Given the description of an element on the screen output the (x, y) to click on. 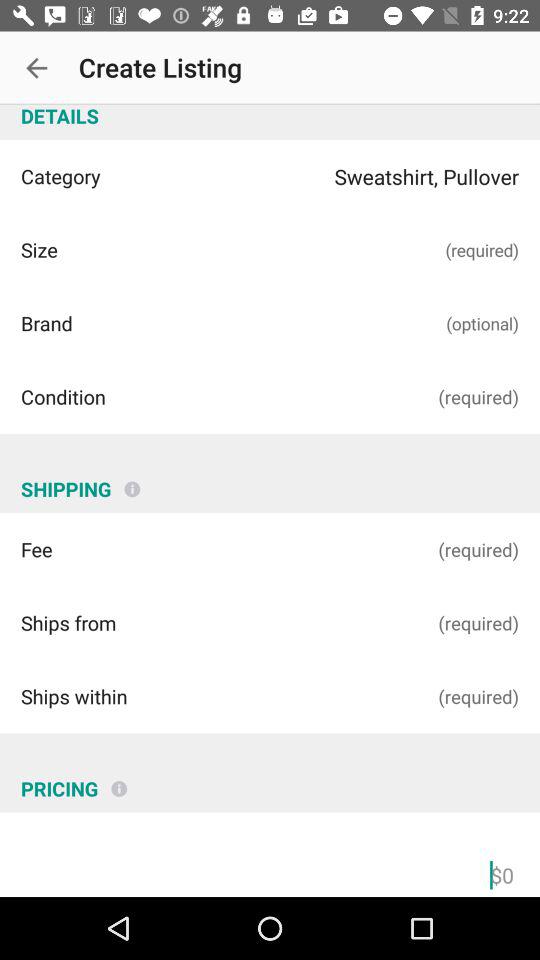
open the item next to pricing icon (119, 781)
